Given the description of an element on the screen output the (x, y) to click on. 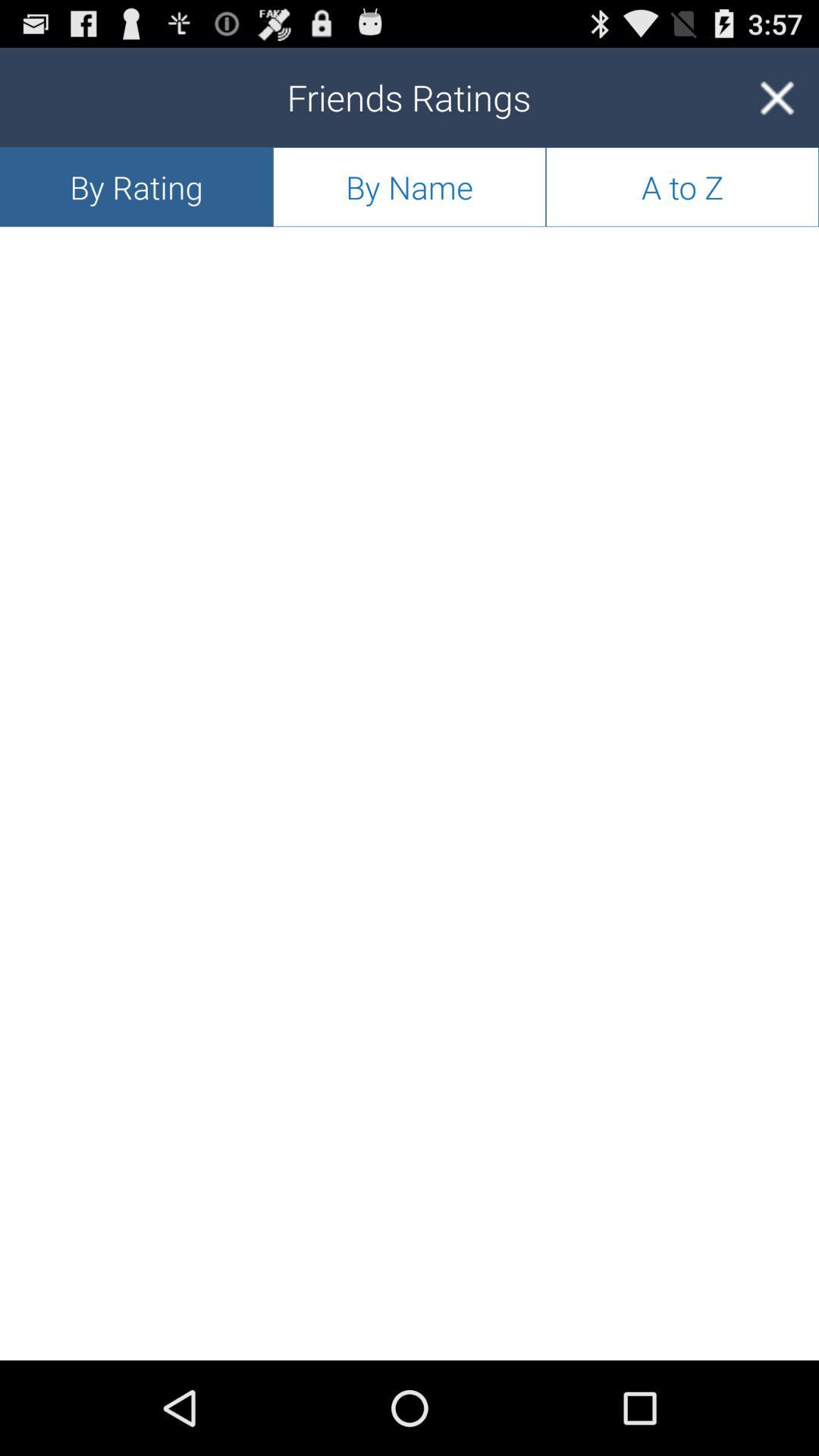
launch app to the left of the a to z app (409, 186)
